Given the description of an element on the screen output the (x, y) to click on. 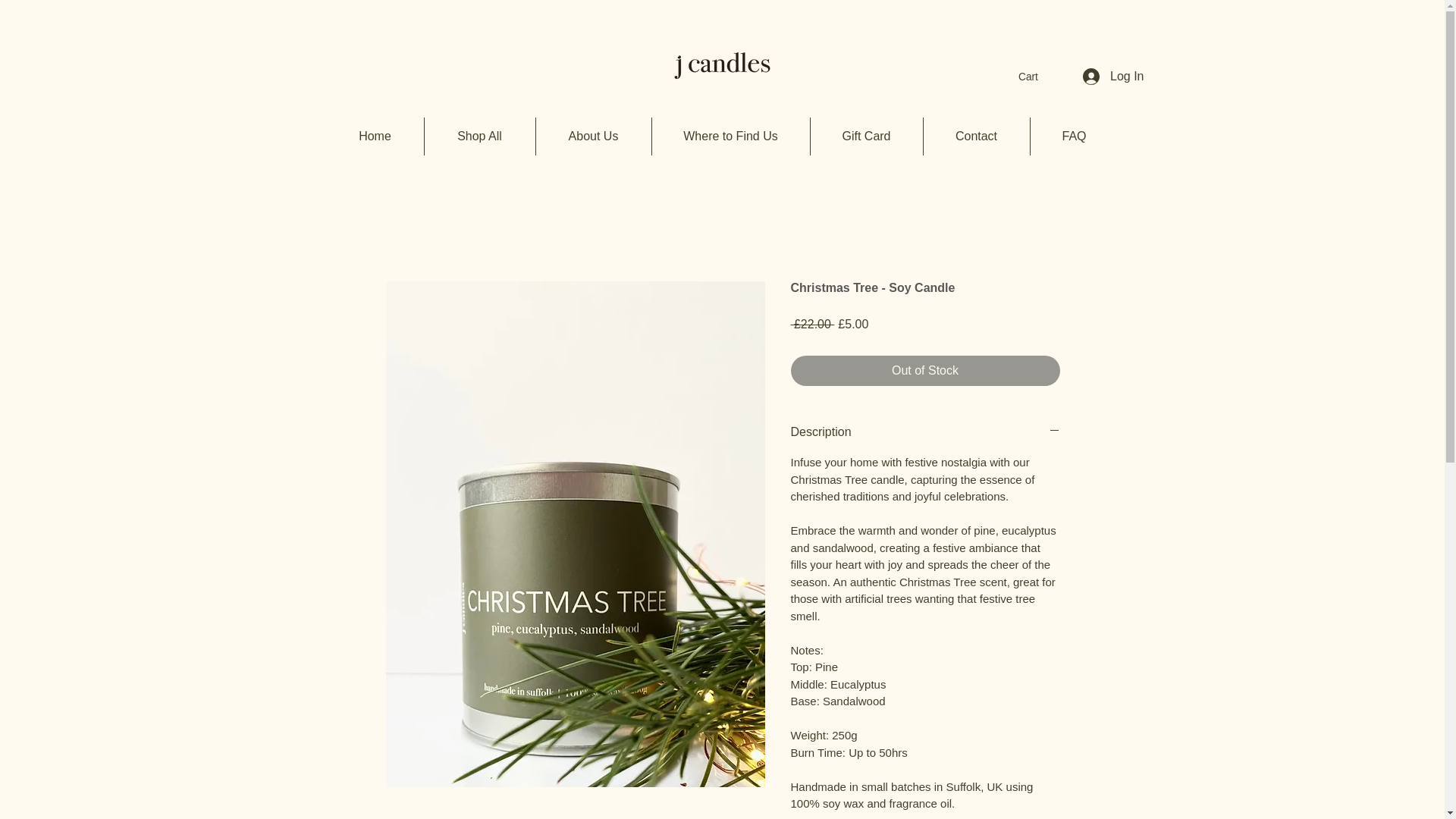
Out of Stock (924, 370)
Home (374, 136)
Cart (1036, 76)
About Us (592, 136)
Log In (1112, 76)
Where to Find Us (730, 136)
Shop All (480, 136)
Description (924, 432)
Contact (976, 136)
Cart (1036, 76)
